Given the description of an element on the screen output the (x, y) to click on. 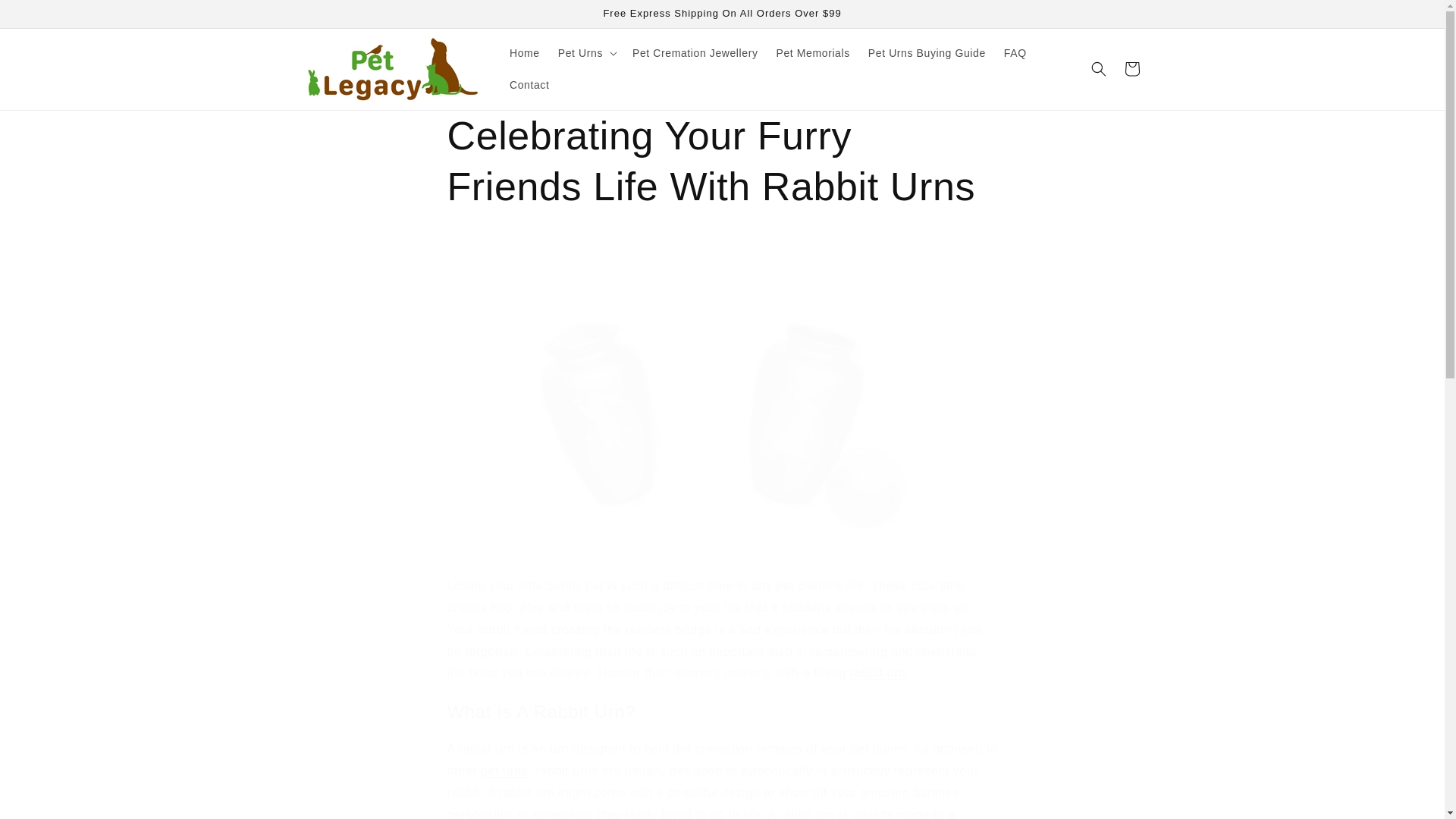
Contact (528, 84)
Skip to content (45, 17)
Pet Cremation Jewellery (695, 52)
Home (524, 52)
Pet Urns Buying Guide (926, 52)
FAQ (1014, 52)
Pet Memorials (813, 52)
Celebrating Your Furry Friends Life With Rabbit Urns (721, 161)
